Given the description of an element on the screen output the (x, y) to click on. 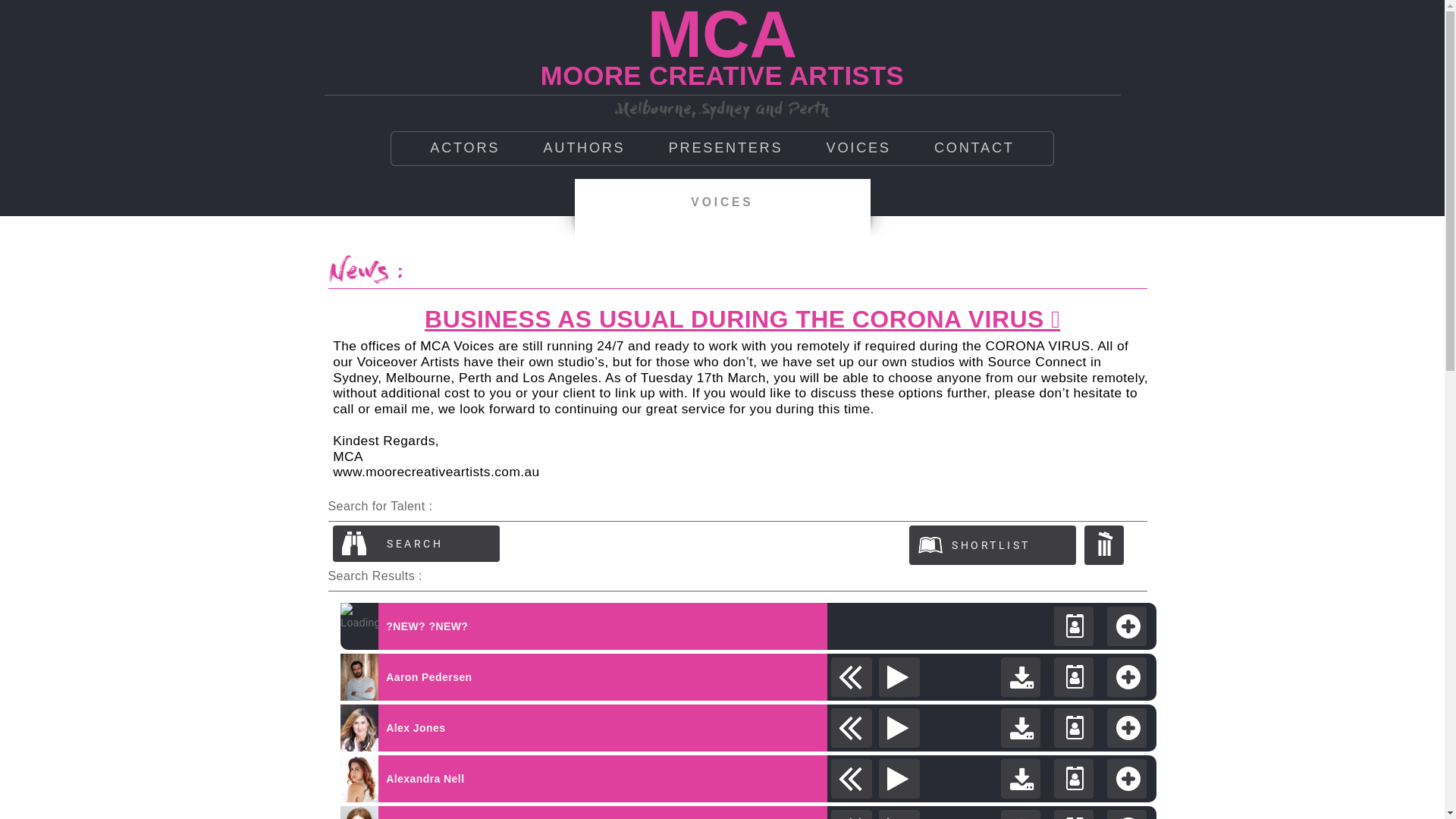
MOORE CREATIVE ARTISTS Element type: text (722, 73)
Already in shortlist Element type: hover (748, 711)
Add to shortlist (2260) Element type: hover (1126, 676)
PRESENTERS Element type: text (725, 148)
View Profile Element type: hover (1073, 626)
View Profile Element type: hover (1073, 727)
Clear Shortlist Element type: hover (1103, 544)
View shortlist Element type: hover (992, 544)
Download 'Audio' Element type: hover (1020, 676)
CONTACT Element type: text (974, 148)
Already in shortlist Element type: hover (748, 610)
Already in shortlist Element type: hover (748, 762)
Add to shortlist (2273) Element type: hover (1126, 778)
Add to shortlist (11336) Element type: hover (1126, 626)
AUTHORS Element type: text (583, 148)
Already in shortlist Element type: hover (748, 660)
View Profile Element type: hover (1073, 676)
View Profile Element type: hover (1073, 778)
Download 'Audio' Element type: hover (1020, 778)
Add to shortlist (1003) Element type: hover (1126, 727)
Download 'Audio' Element type: hover (1020, 727)
ACTORS Element type: text (464, 148)
MCA Element type: text (722, 33)
Show Search Criteria Element type: hover (415, 543)
VOICES Element type: text (858, 148)
